Given the description of an element on the screen output the (x, y) to click on. 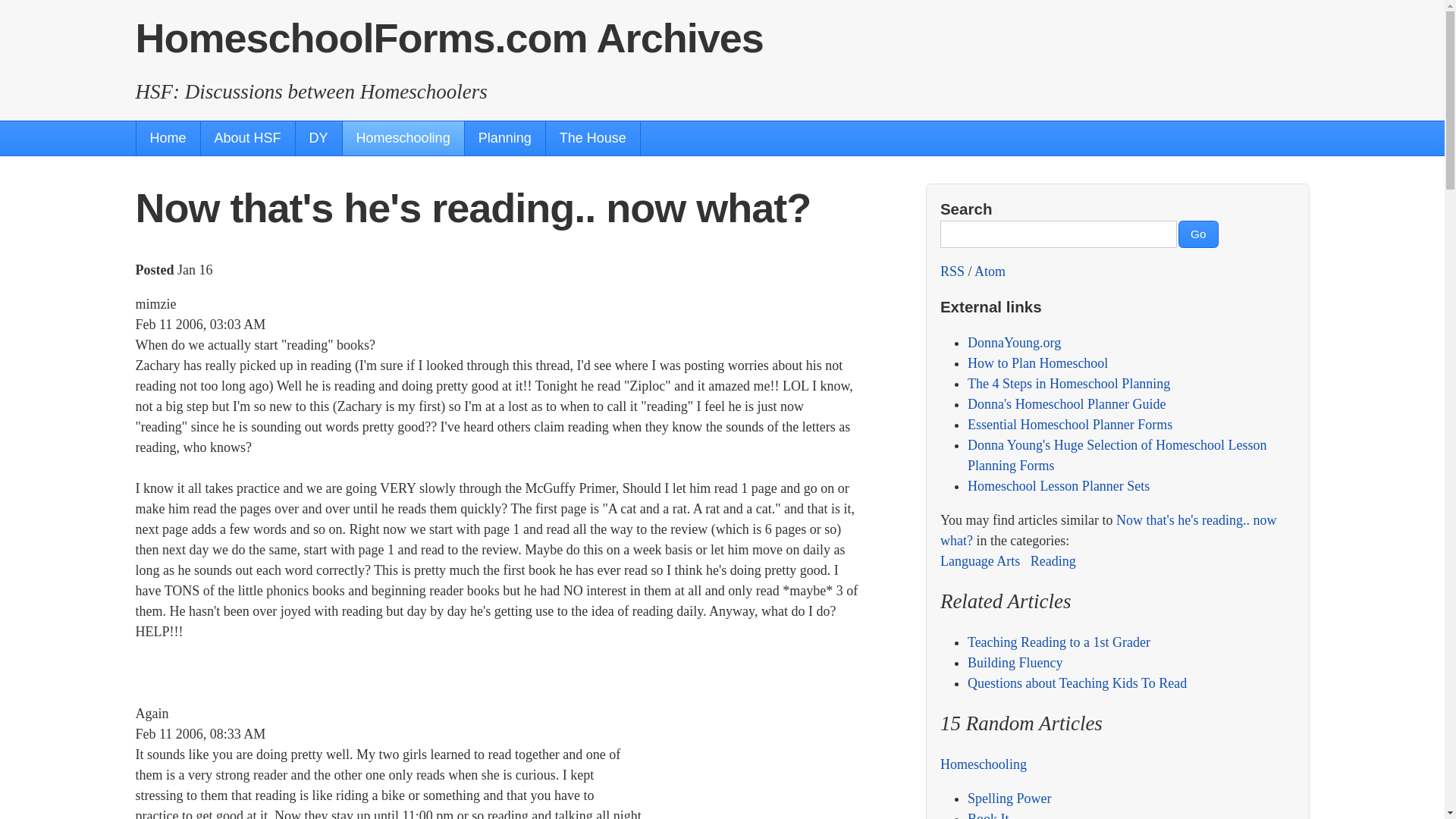
Donna Young's matching homeschool planner sets. (1059, 485)
DY (318, 138)
Atom (990, 271)
The 4 Steps in Homeschool Planning (1069, 383)
Spelling Power (1009, 798)
Planning (504, 138)
Teaching Reading to a 1st Grader (1059, 642)
Reading (1052, 560)
RSS feed (951, 271)
Go (1197, 233)
Homeschooling (403, 138)
RSS (951, 271)
